Given the description of an element on the screen output the (x, y) to click on. 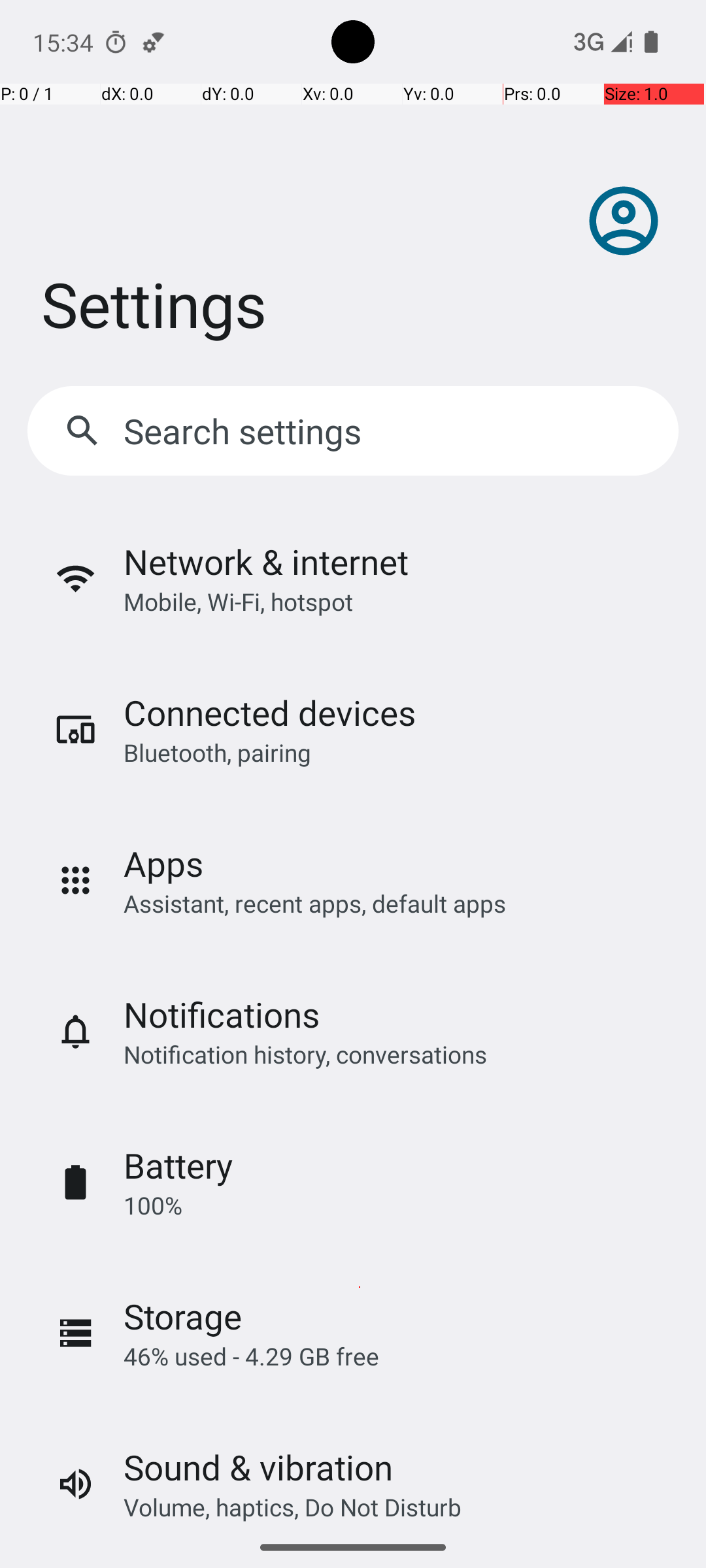
46% used - 4.29 GB free Element type: android.widget.TextView (251, 1355)
